Given the description of an element on the screen output the (x, y) to click on. 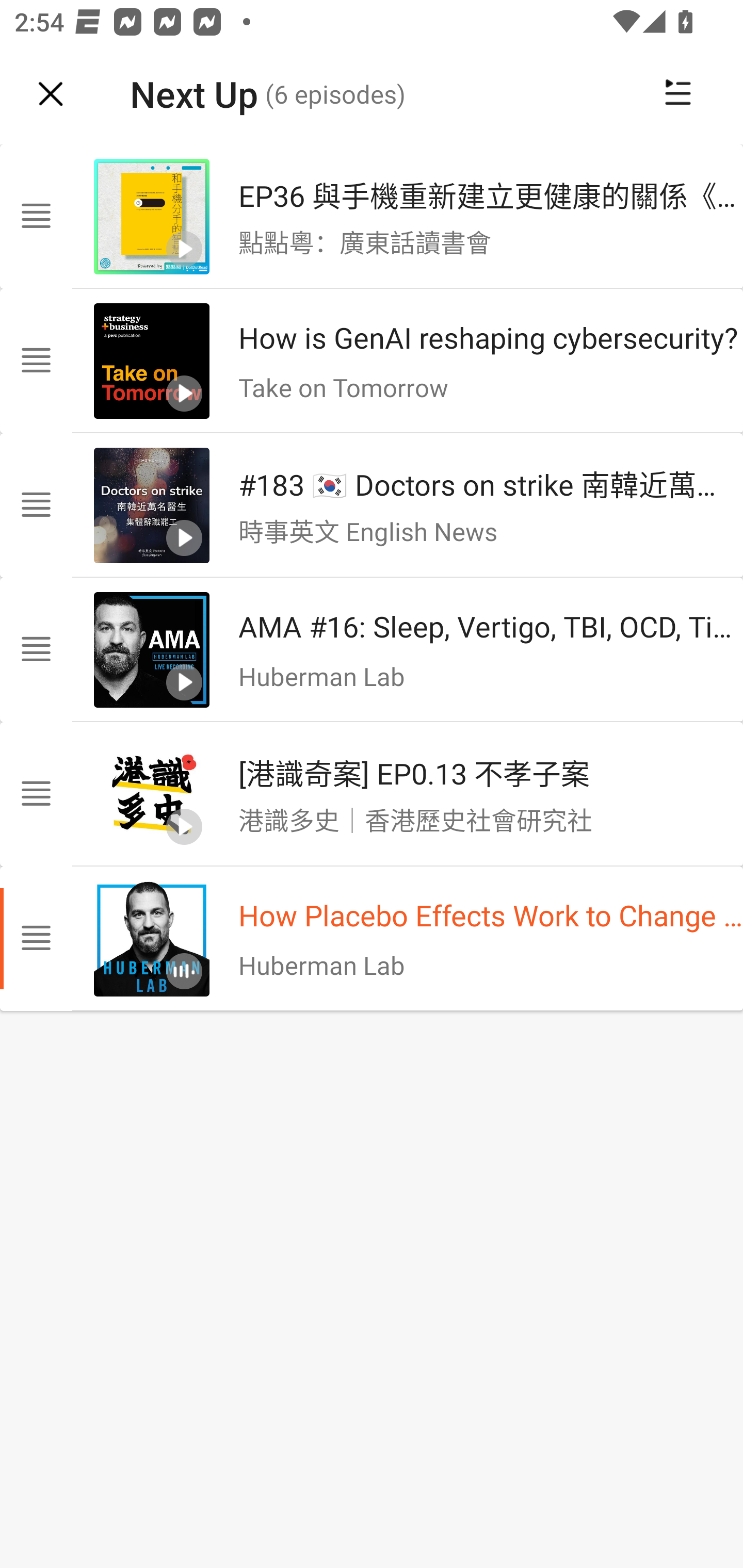
Navigate up (50, 93)
